Given the description of an element on the screen output the (x, y) to click on. 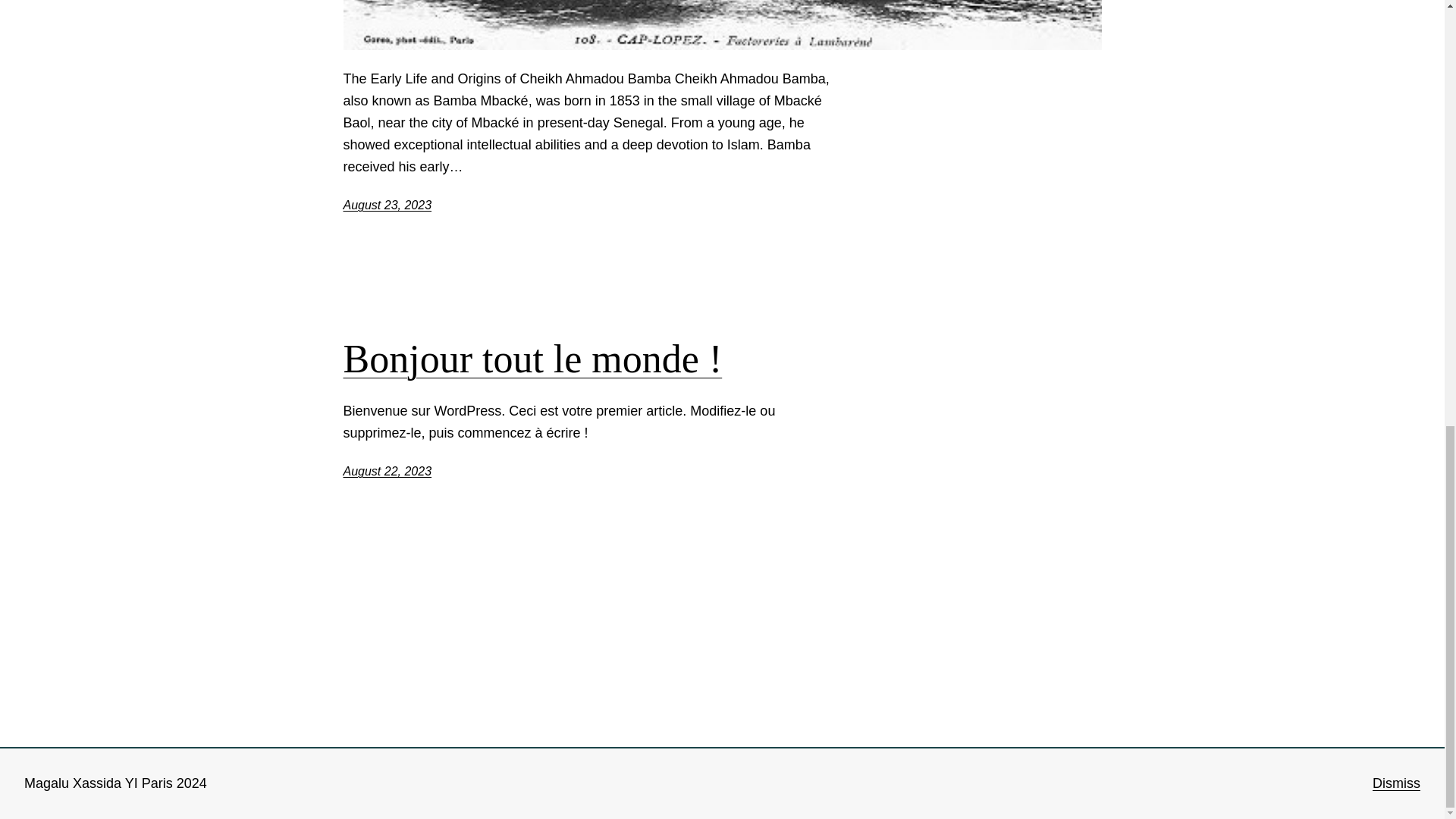
Bonjour tout le monde ! (532, 359)
WordPress (1067, 758)
August 23, 2023 (386, 205)
Dialibatu (369, 758)
August 22, 2023 (386, 471)
